Given the description of an element on the screen output the (x, y) to click on. 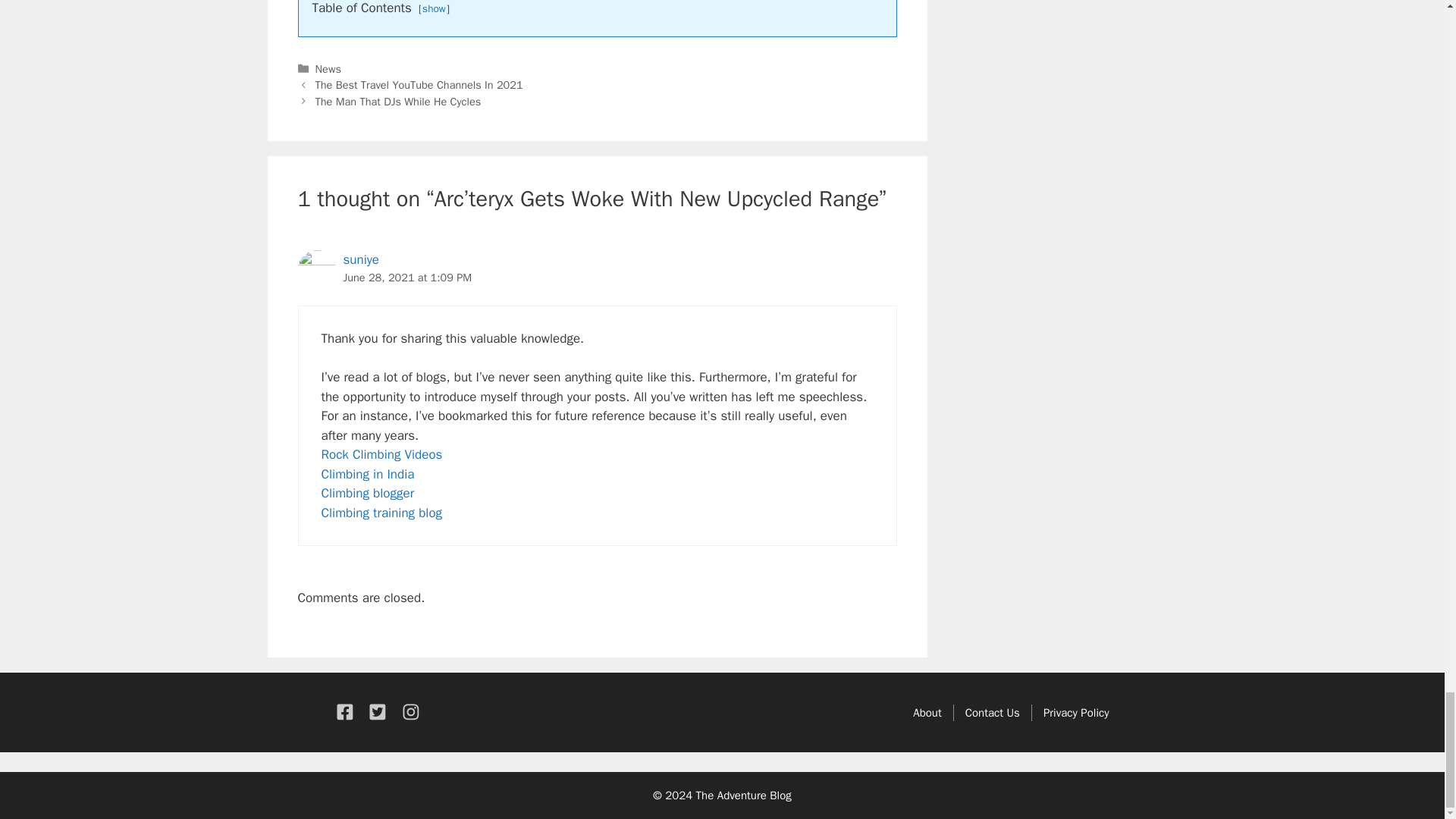
News (327, 69)
The Man That DJs While He Cycles (398, 101)
The Best Travel YouTube Channels In 2021 (418, 84)
suniye (360, 259)
show (433, 8)
